Given the description of an element on the screen output the (x, y) to click on. 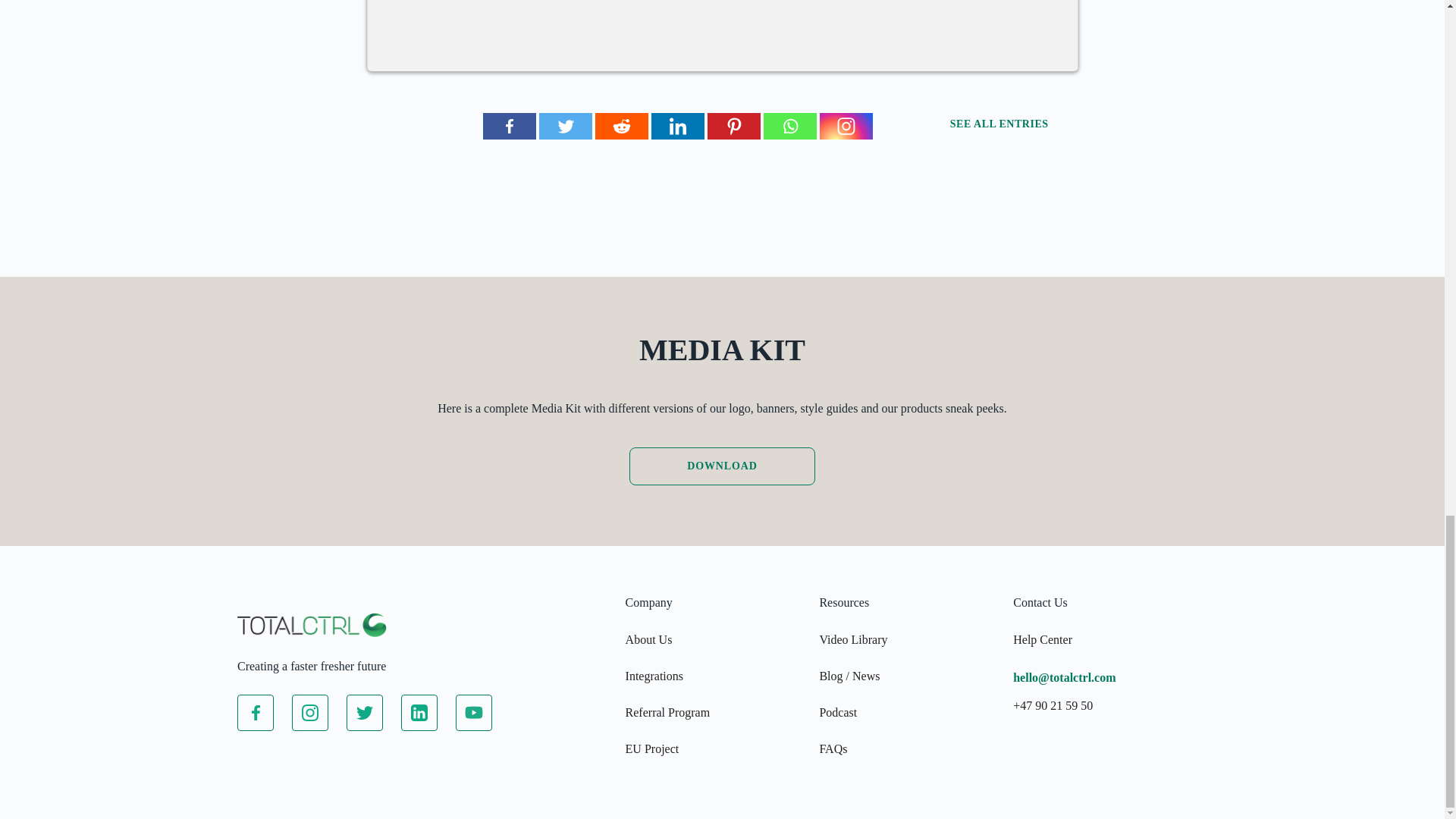
Reddit (620, 126)
Twitter (564, 126)
Whatsapp (788, 126)
Pinterest (733, 126)
Podcast (837, 712)
About Us (649, 639)
EU Project (652, 748)
Integrations (654, 675)
Instagram (845, 126)
Video Library (852, 639)
Facebook (508, 126)
DOWNLOAD (721, 466)
Referral Program (668, 712)
SEE ALL ENTRIES (1014, 123)
FAQs (832, 748)
